Given the description of an element on the screen output the (x, y) to click on. 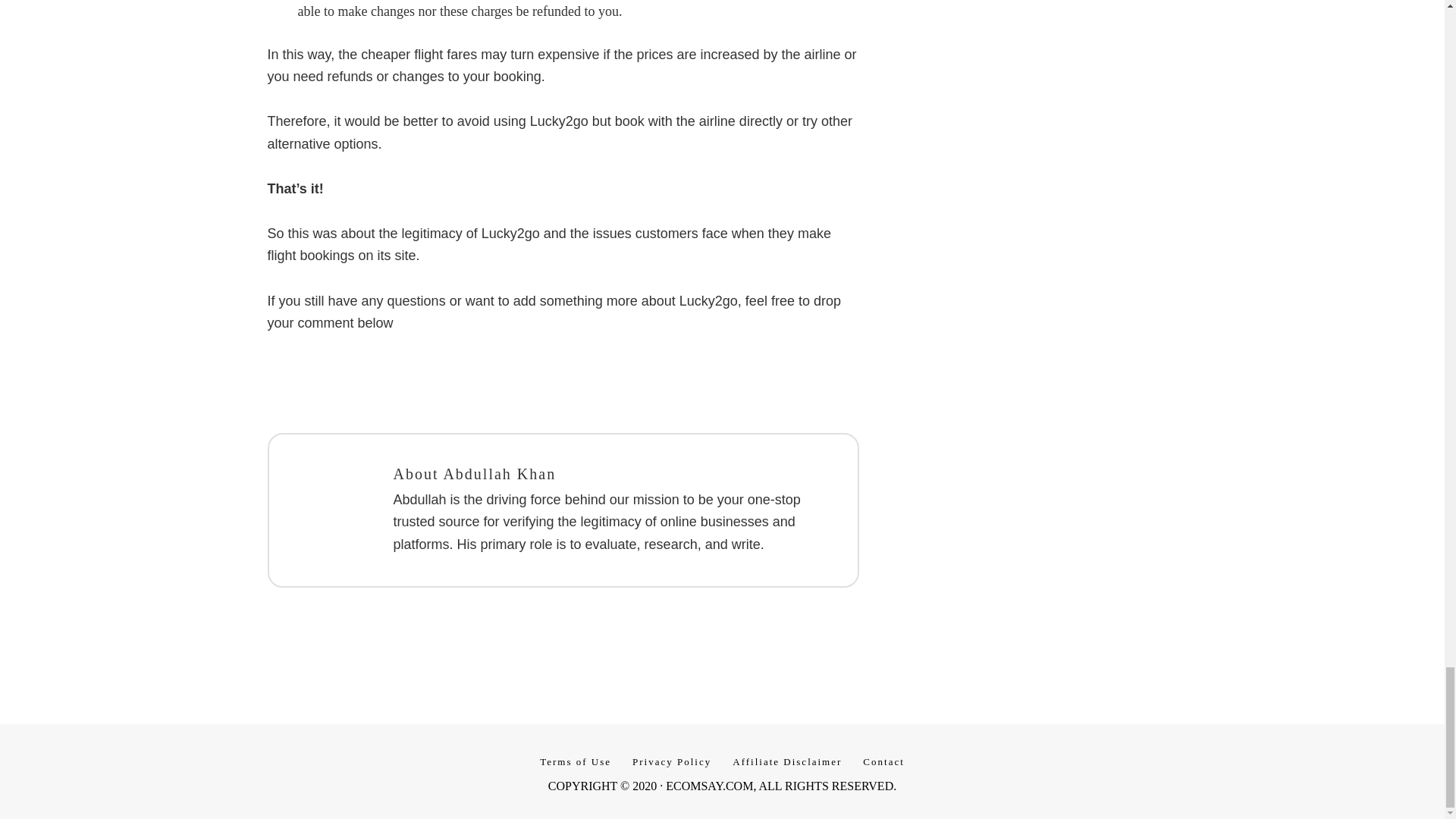
Contact (882, 761)
Affiliate Disclaimer (786, 761)
Privacy Policy (671, 761)
Terms of Use (575, 761)
